Given the description of an element on the screen output the (x, y) to click on. 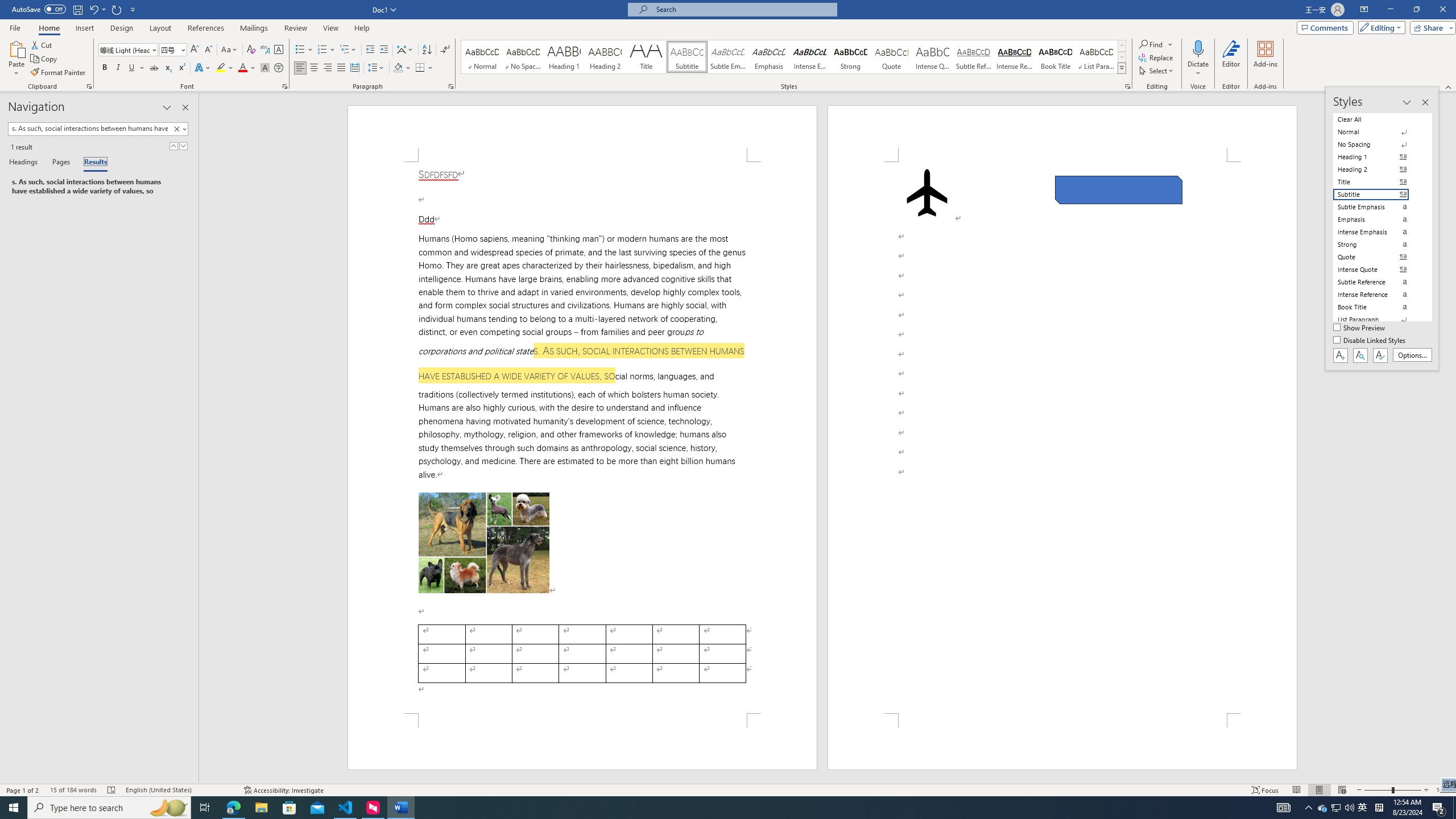
Rectangle: Diagonal Corners Snipped 2 (1118, 189)
